Given the description of an element on the screen output the (x, y) to click on. 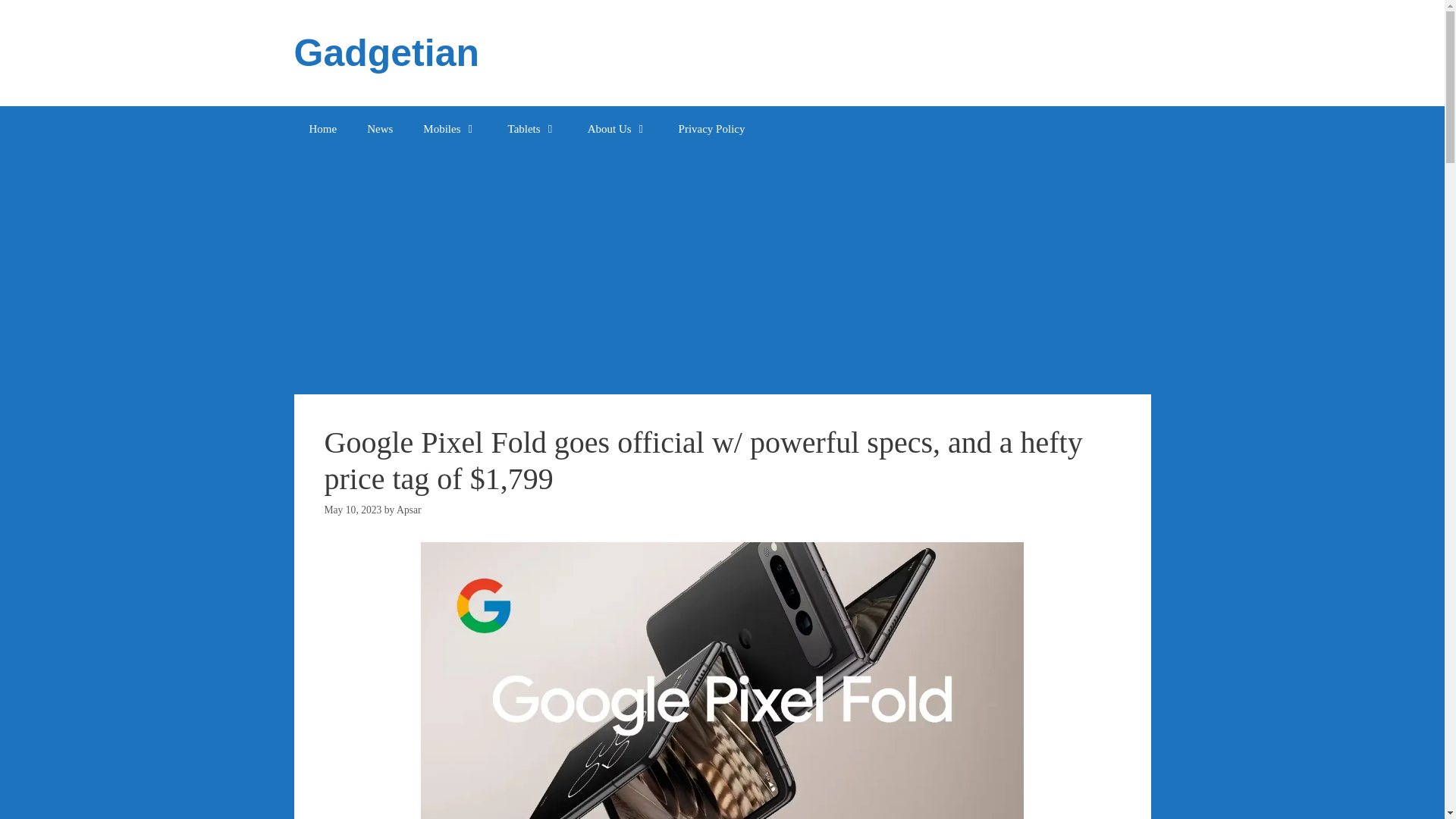
View all posts by Apsar (408, 509)
Gadgetian (386, 52)
Home (323, 128)
Privacy Policy (711, 128)
Apsar (408, 509)
News (379, 128)
About Us (617, 128)
Tablets (532, 128)
Mobiles (449, 128)
